Given the description of an element on the screen output the (x, y) to click on. 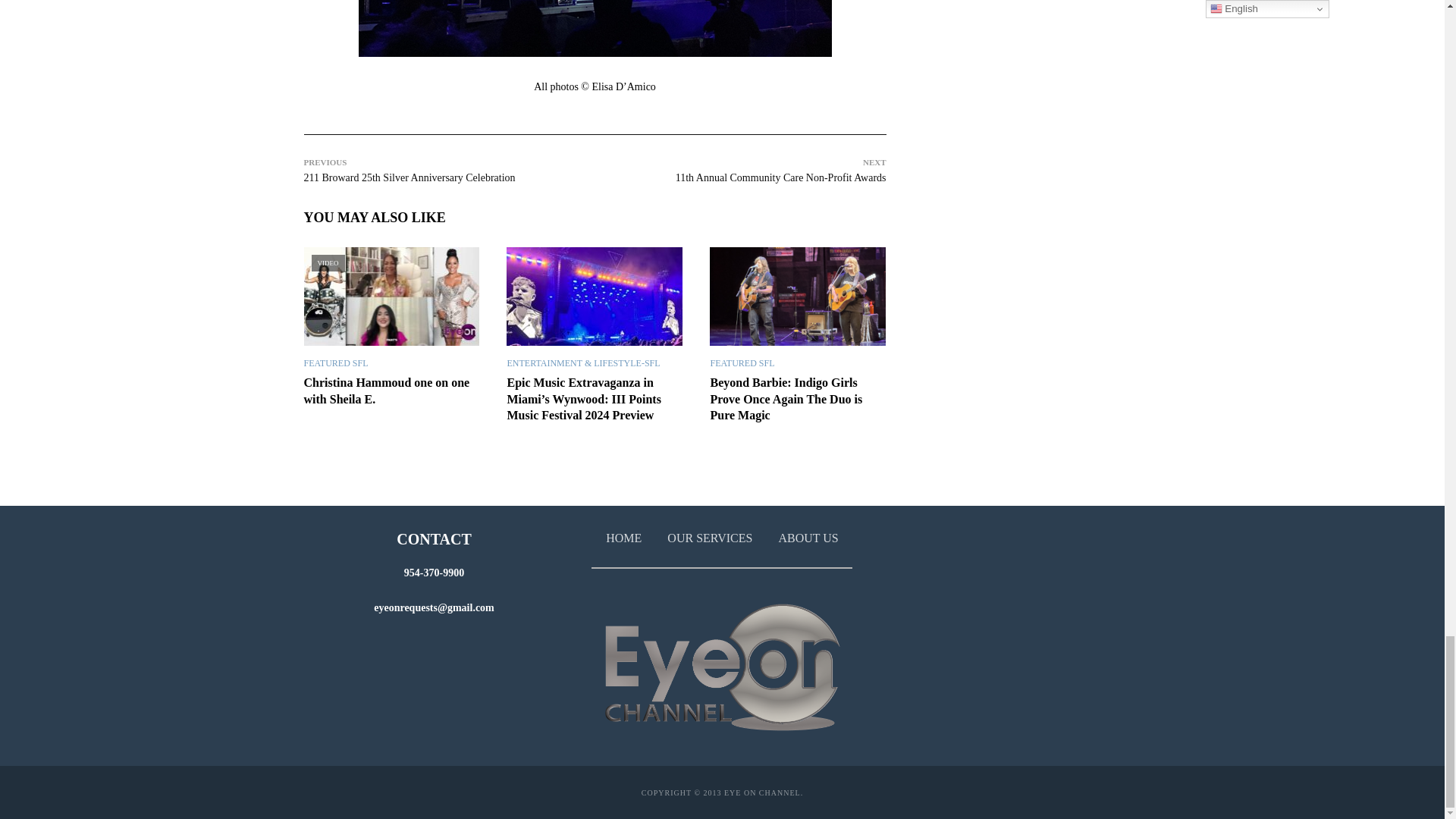
Christina Hammoud one on one with Sheila E. (390, 296)
